Given the description of an element on the screen output the (x, y) to click on. 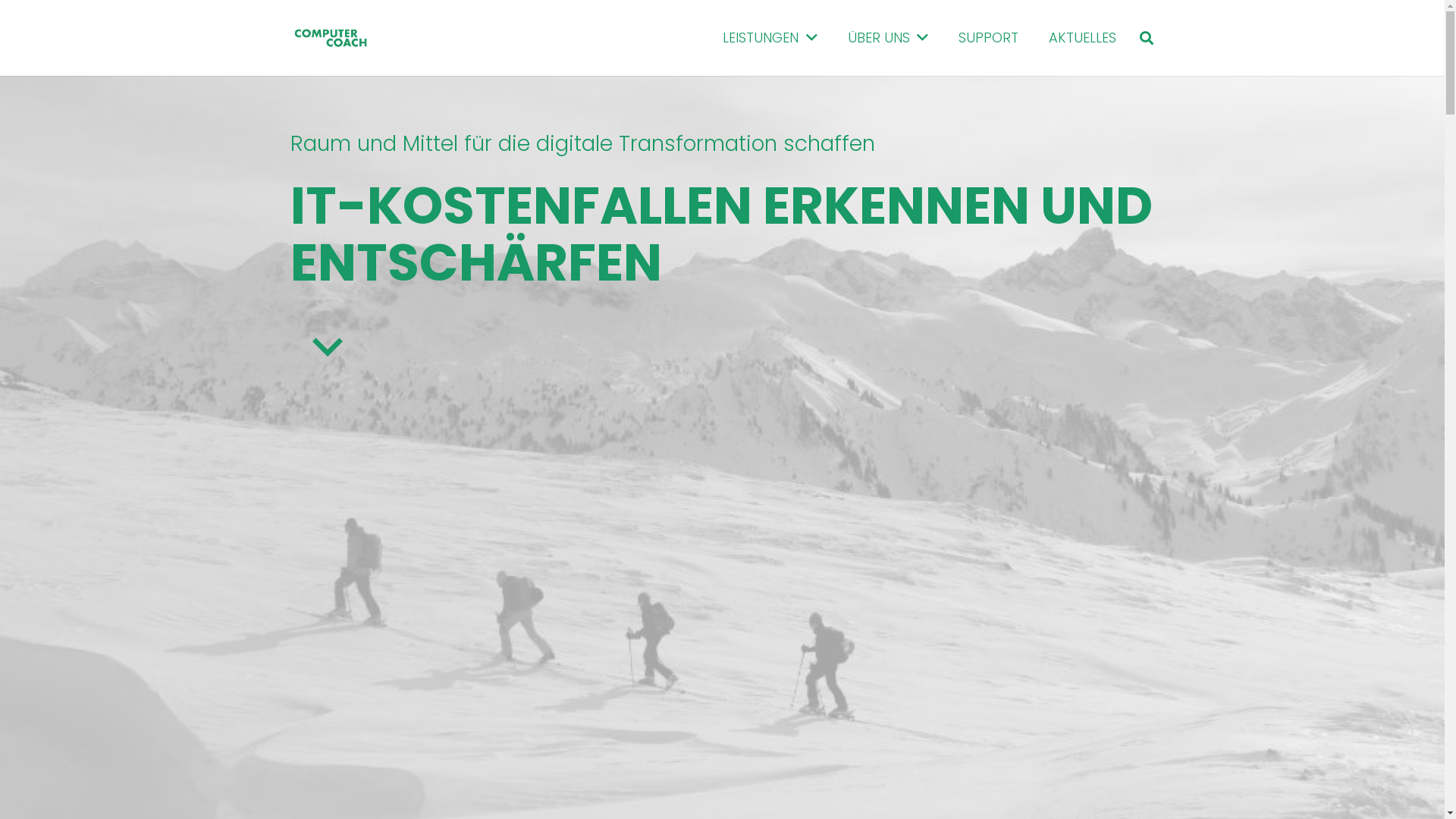
keyboard_arrow_down Element type: text (326, 346)
SUPPORT Element type: text (988, 37)
AKTUELLES Element type: text (1082, 37)
LEISTUNGEN Element type: text (769, 37)
